Given the description of an element on the screen output the (x, y) to click on. 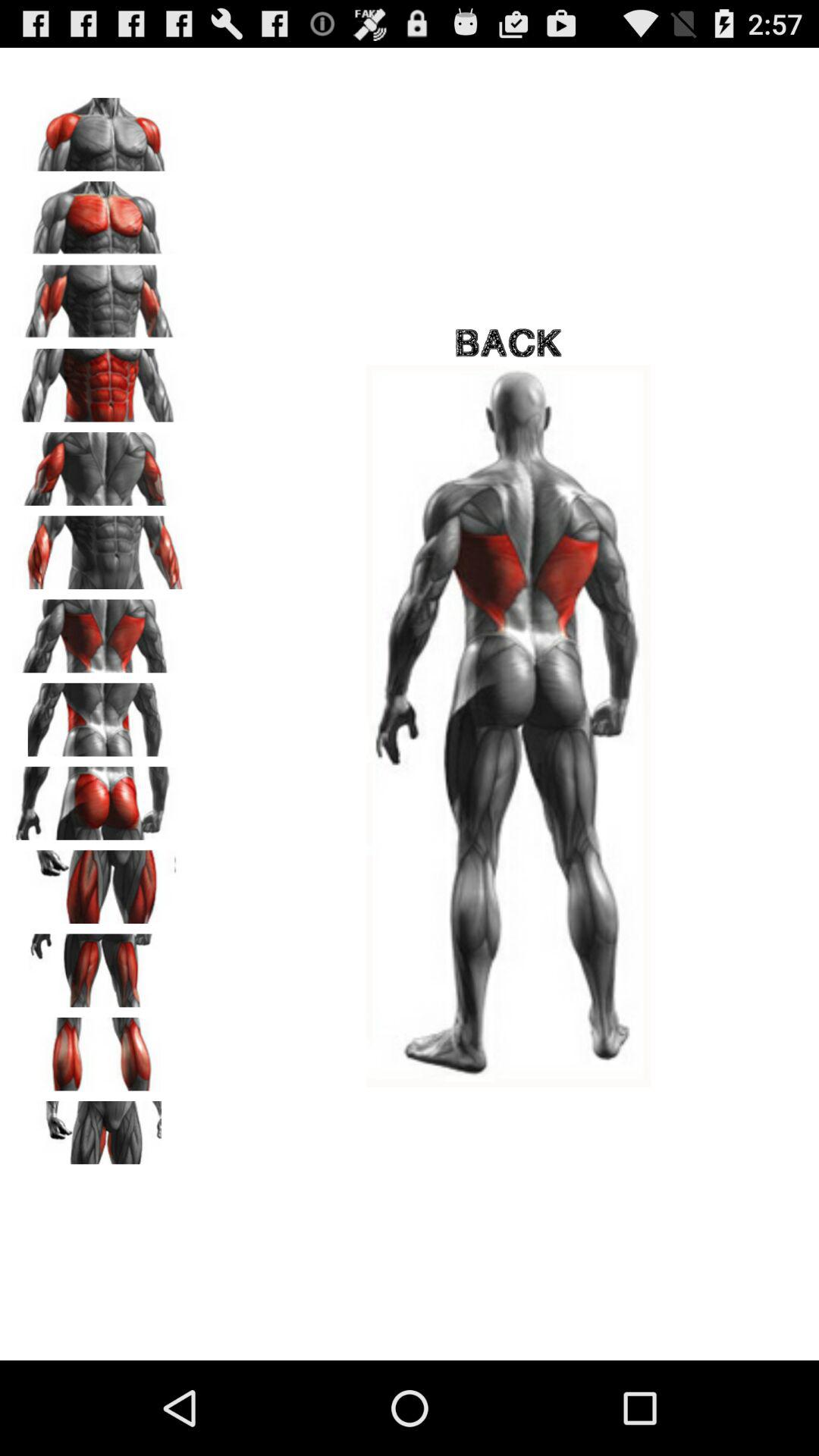
enlarge picture (99, 881)
